Given the description of an element on the screen output the (x, y) to click on. 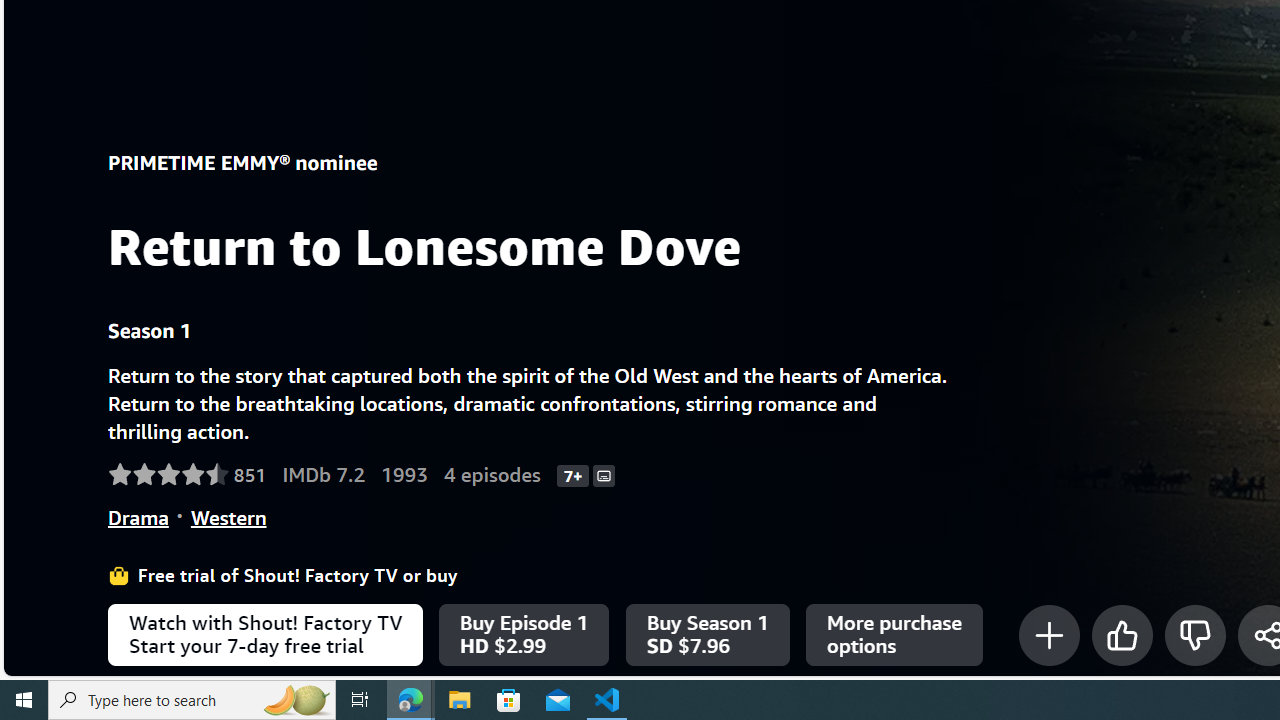
Buy Episode 1 HD $2.99 (524, 635)
Drama (137, 517)
Subtitles (603, 474)
Western (228, 517)
Rated 4.6 out of 5 stars by 851 Amazon customers. (187, 475)
Class: mO+eGr (1194, 635)
Add to Watchlist (1048, 635)
Watch with Shout! Factory TV Start your 7-day free trial (265, 635)
Buy Season 1 SD $7.96 (706, 635)
Not for me (1194, 635)
Like (1121, 635)
More purchase options (894, 635)
